Given the description of an element on the screen output the (x, y) to click on. 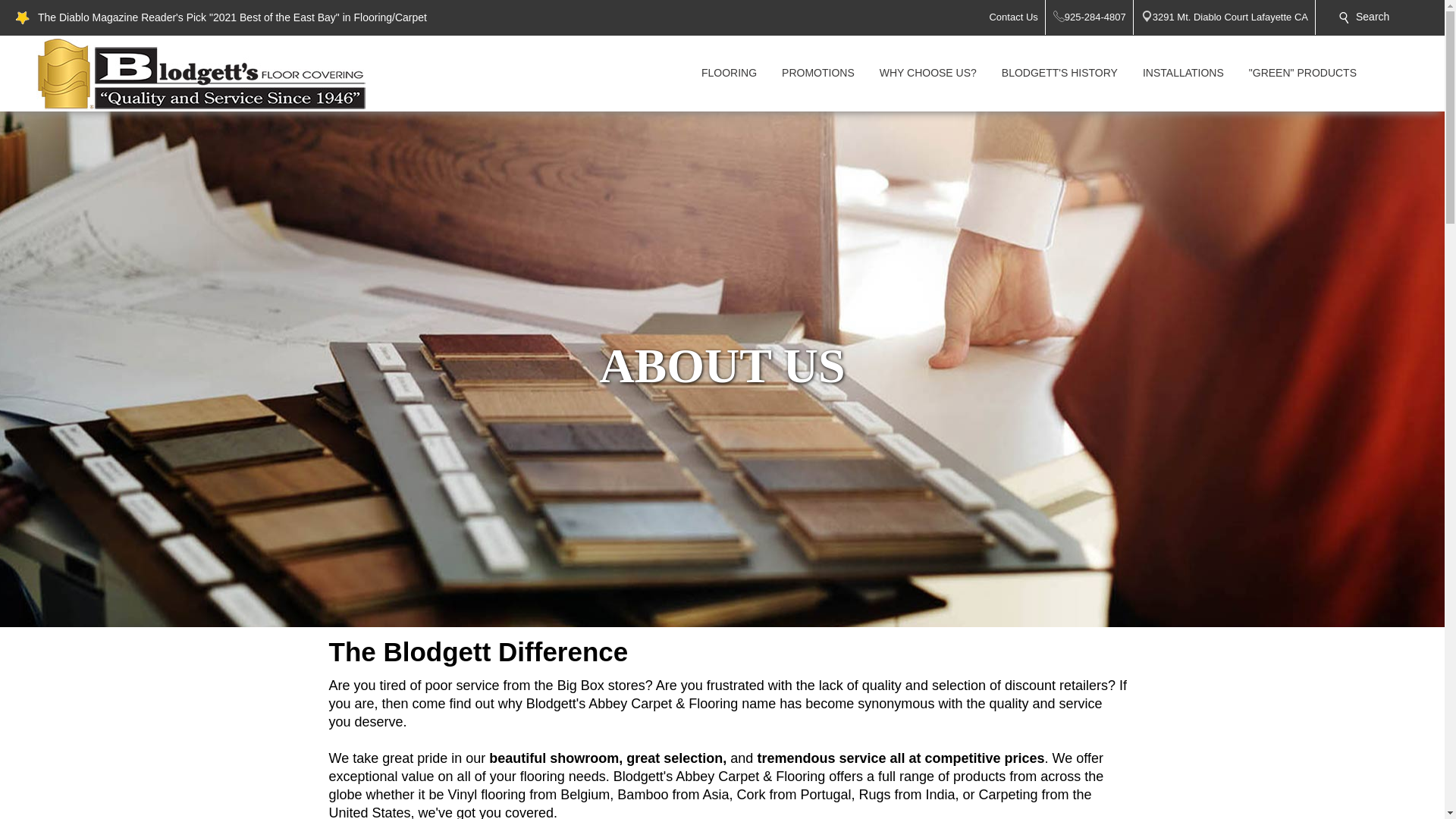
FLOORING (728, 73)
Contact Us (1016, 17)
3291 Mt. Diablo Court Lafayette CA (1234, 17)
925-284-4807 (1099, 17)
